Given the description of an element on the screen output the (x, y) to click on. 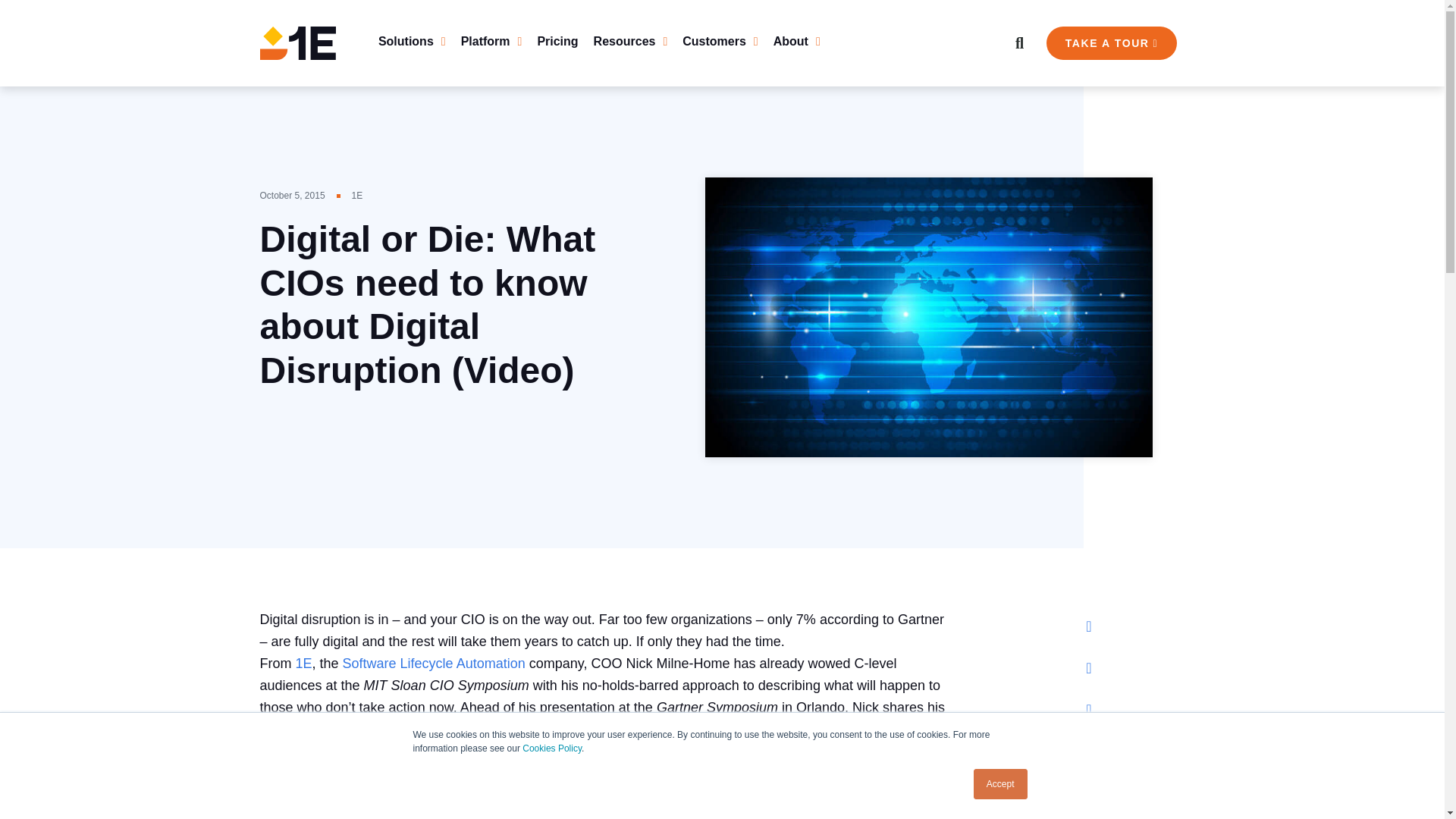
Accept (1000, 784)
digital-disruption (928, 317)
1E Logo (296, 42)
Cookies Policy (551, 747)
